Given the description of an element on the screen output the (x, y) to click on. 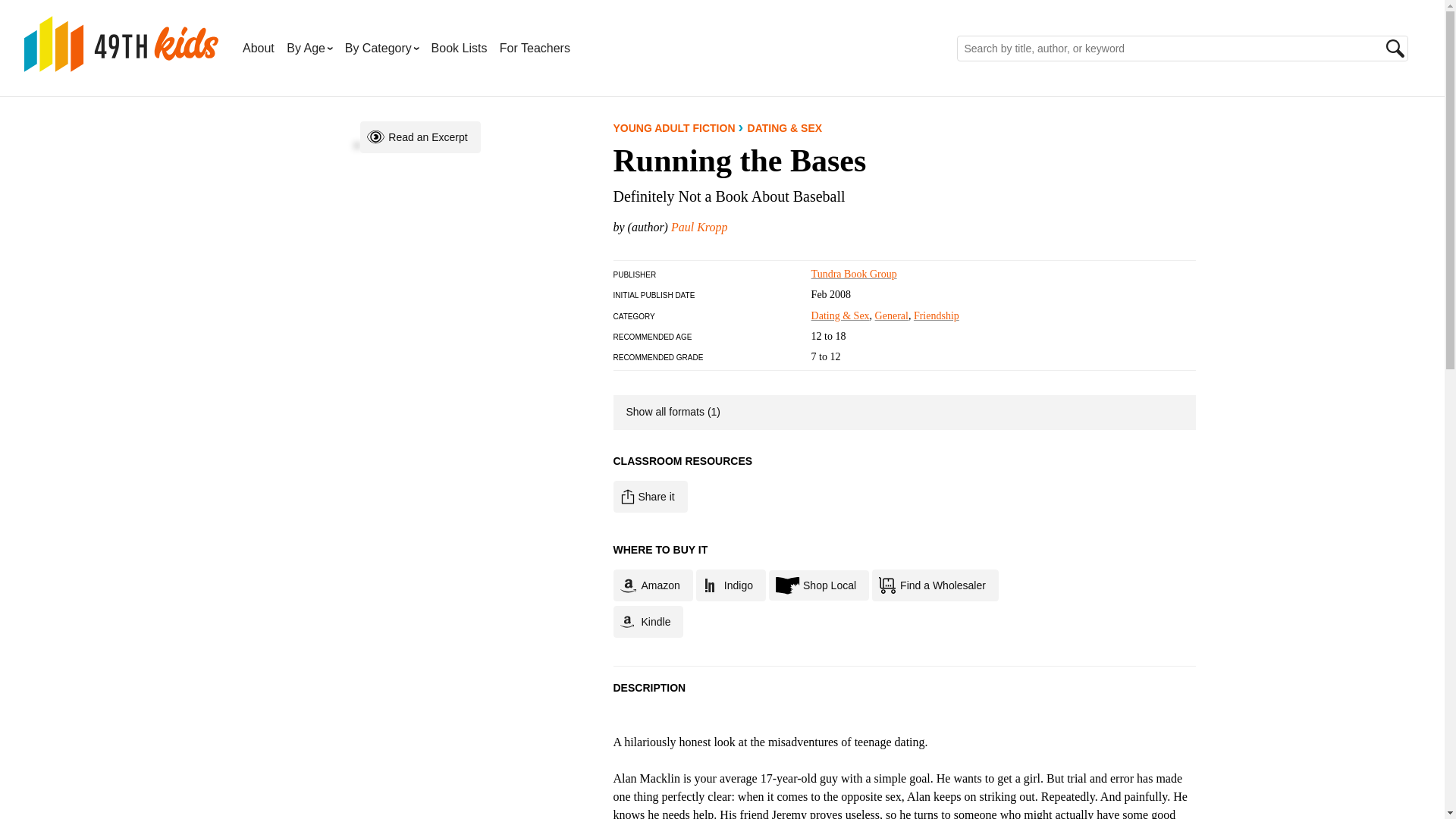
Shop Local (818, 585)
49th Kids: Thousands of Canadian-authored kids and YA books (121, 62)
View more Young Adult Fiction books (673, 128)
Buy at Kindle (647, 622)
on (622, 402)
Find an independent bookseller near you (818, 585)
49th Kids: Thousands of Canadian-authored kids and YA books (121, 43)
Buy at Amazon (652, 585)
Find a Wholesaler (935, 585)
View Tundra Book Group books (853, 274)
